Given the description of an element on the screen output the (x, y) to click on. 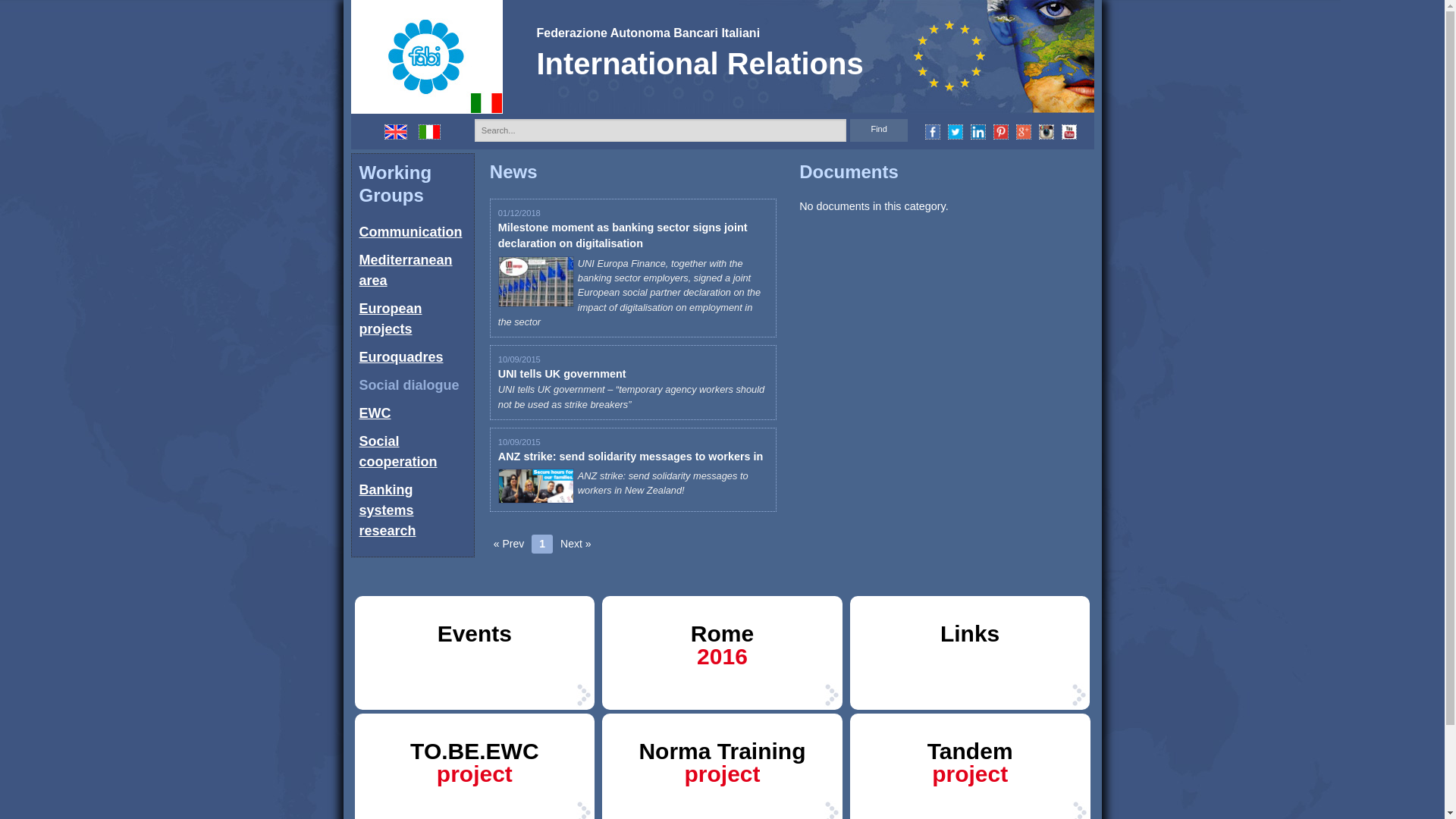
Social cooperation (398, 451)
Find (879, 129)
Communication (411, 231)
Find (879, 129)
Banking systems research (387, 510)
European projects (390, 318)
Social dialogue (409, 385)
Mediterranean area (405, 270)
1 (542, 543)
Find (879, 129)
